Given the description of an element on the screen output the (x, y) to click on. 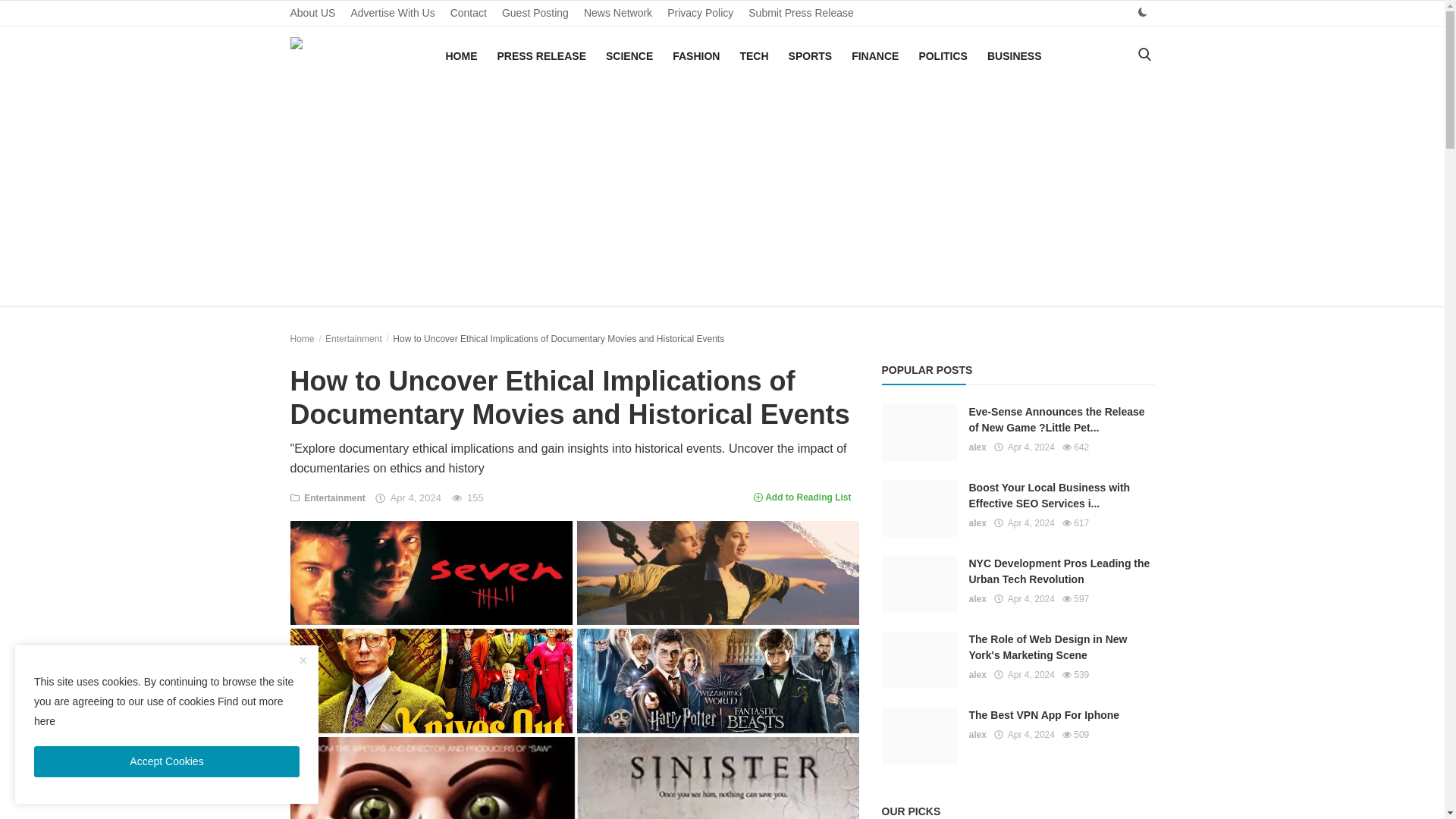
FINANCE (874, 55)
Submit Press Release (801, 13)
FASHION (695, 55)
BUSINESS (1014, 55)
About US (312, 13)
SCIENCE (629, 55)
PRESS RELEASE (541, 55)
POLITICS (943, 55)
Contact (468, 13)
SPORTS (810, 55)
